Given the description of an element on the screen output the (x, y) to click on. 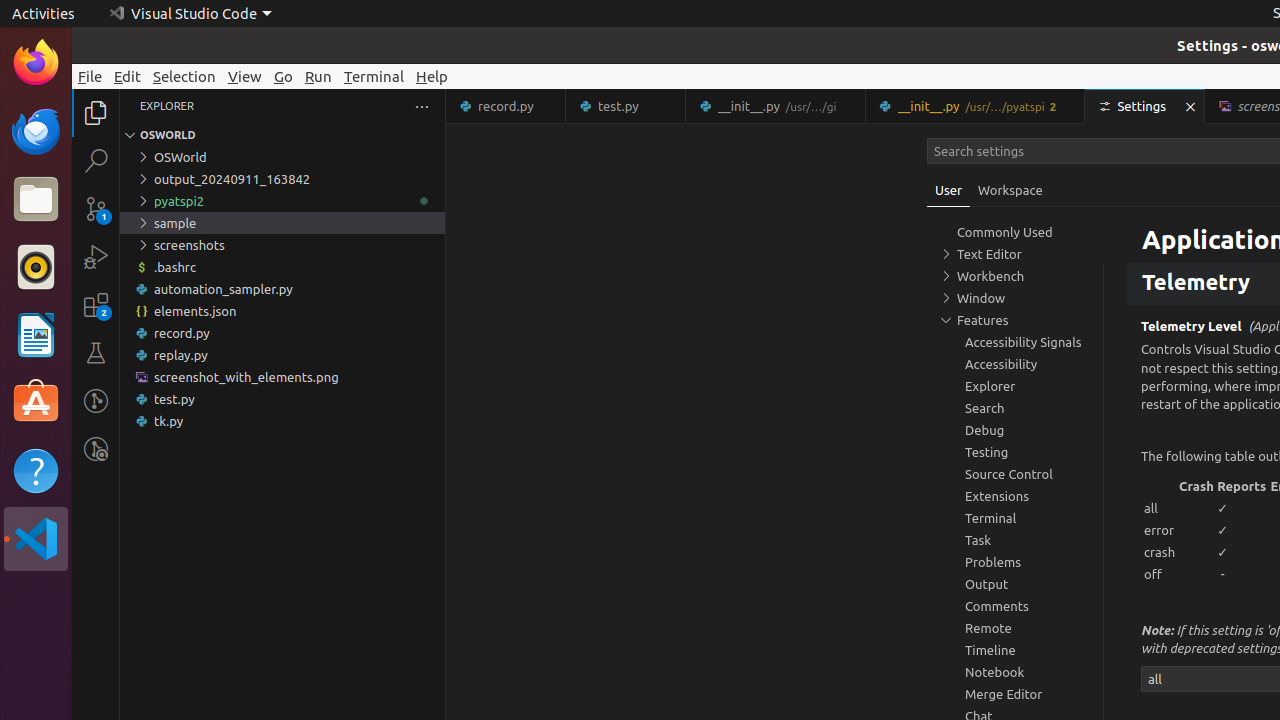
✓ Element type: table-cell (1223, 507)
Workspace Element type: check-box (1010, 190)
__init__.py Element type: page-tab (975, 106)
tk.py Element type: tree-item (282, 421)
Timeline, group Element type: tree-item (1015, 650)
